Given the description of an element on the screen output the (x, y) to click on. 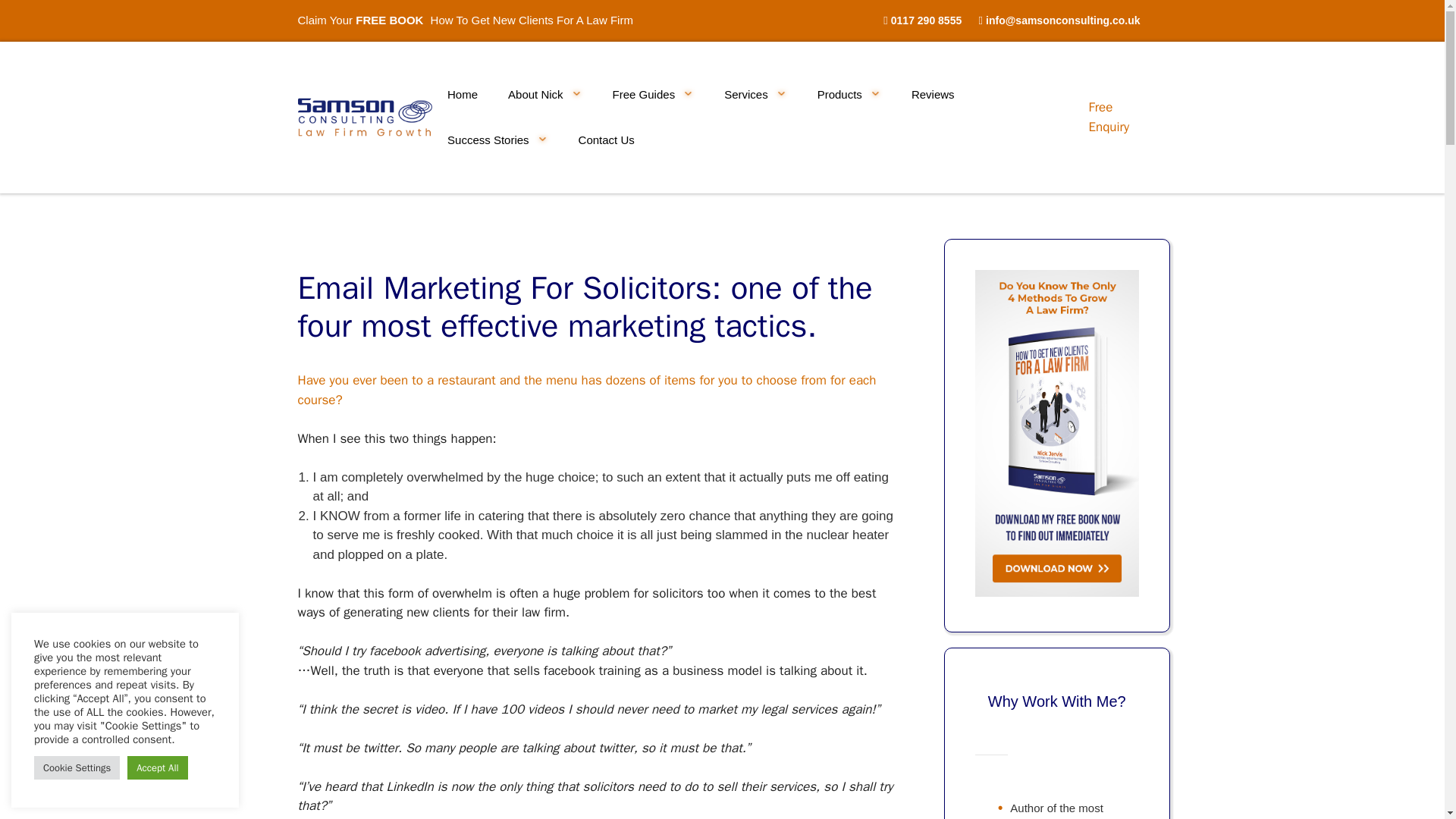
Services (755, 94)
About Nick (544, 94)
Free Guides (653, 94)
0117 290 8555 (925, 20)
Home (462, 94)
FREE BOOK (389, 19)
